Given the description of an element on the screen output the (x, y) to click on. 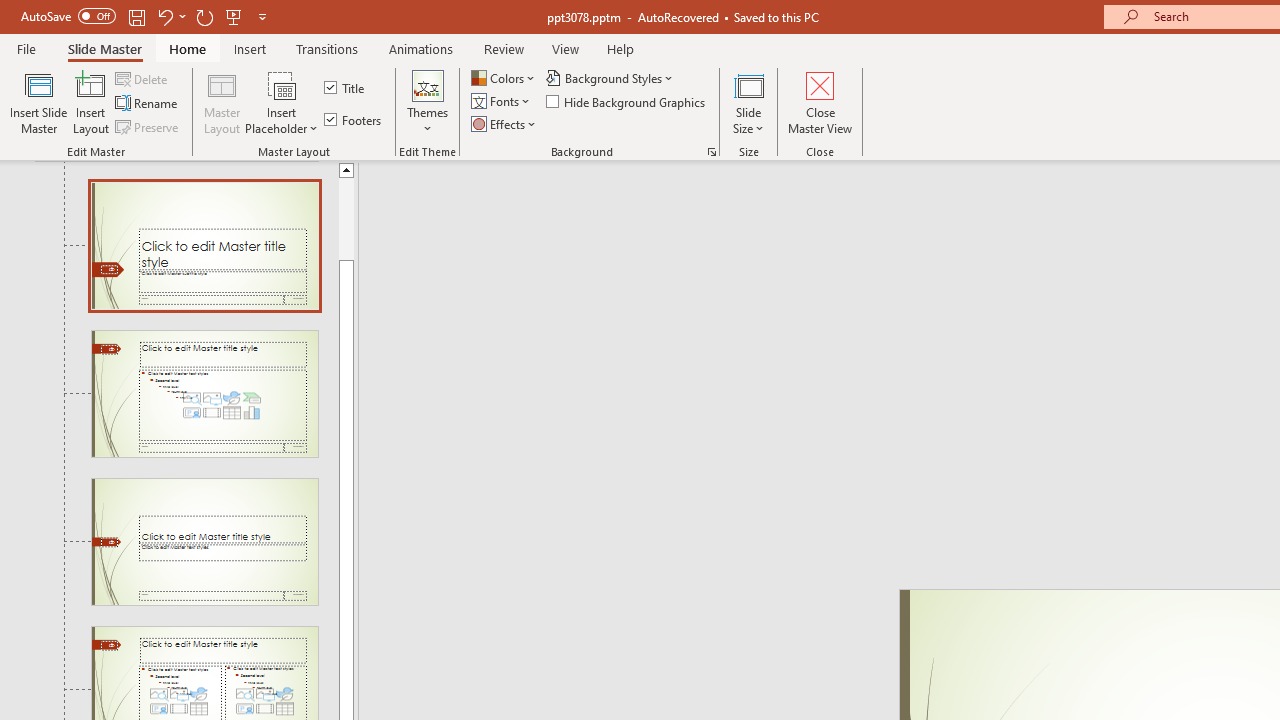
Insert Slide Master (38, 102)
Insert Layout (91, 102)
Rename (148, 103)
Slide Section Header Layout: used by no slides (204, 541)
Master Layout... (221, 102)
Effects (505, 124)
Title (346, 87)
Preserve (148, 126)
Background Styles (610, 78)
Themes (427, 102)
